Given the description of an element on the screen output the (x, y) to click on. 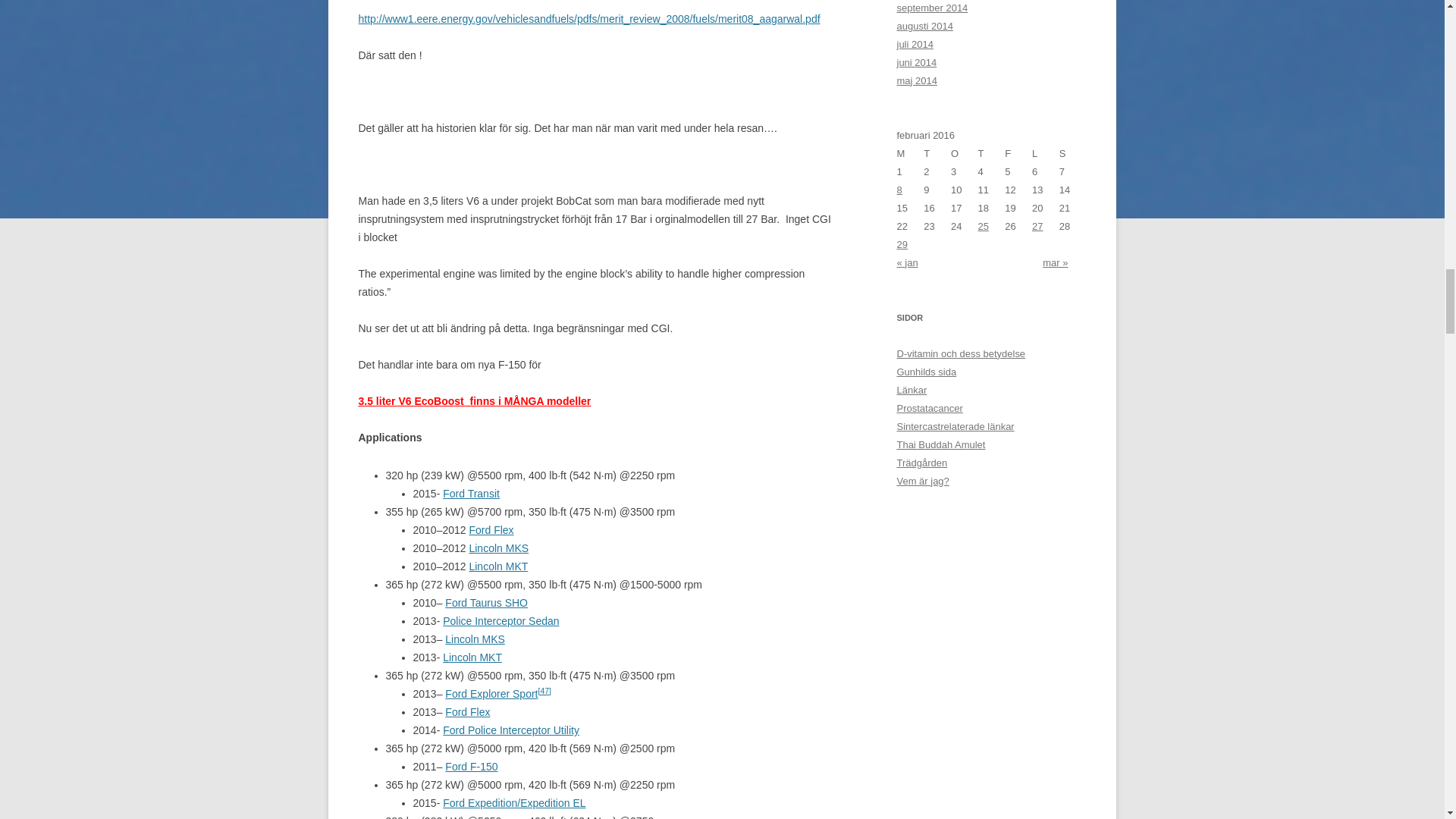
Lincoln MKS (498, 548)
Lincoln MKT (497, 566)
Lincoln MKS (475, 639)
Ford Taurus SHO (486, 603)
Ford Flex (490, 530)
Lincoln MKT (472, 657)
Ford Transit (470, 493)
Ford Transit (470, 493)
Ford Flex (490, 530)
